Given the description of an element on the screen output the (x, y) to click on. 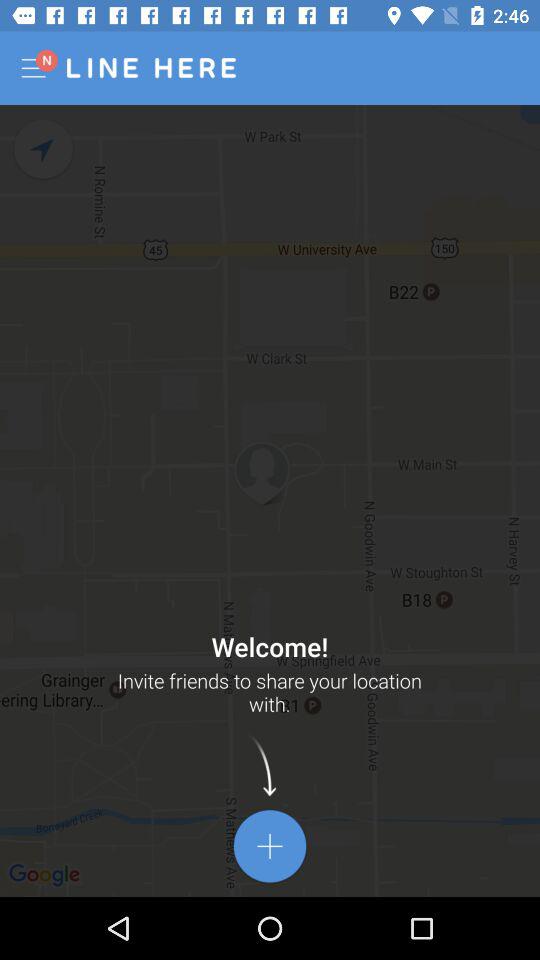
directional indicator button (44, 149)
